Given the description of an element on the screen output the (x, y) to click on. 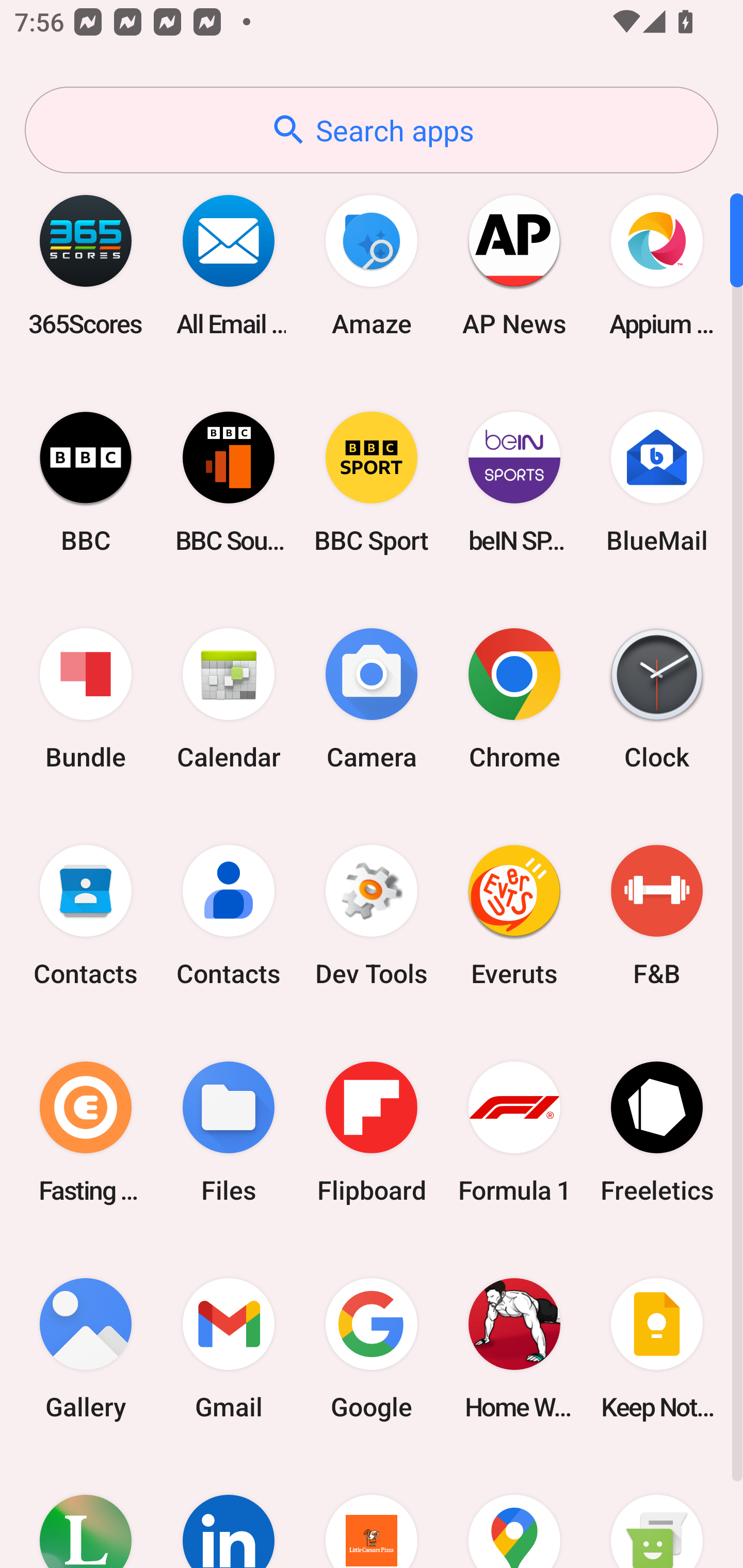
  Search apps (371, 130)
365Scores (85, 264)
All Email Connect (228, 264)
Amaze (371, 264)
AP News (514, 264)
Appium Settings (656, 264)
BBC (85, 482)
BBC Sounds (228, 482)
BBC Sport (371, 482)
beIN SPORTS (514, 482)
BlueMail (656, 482)
Bundle (85, 699)
Calendar (228, 699)
Camera (371, 699)
Chrome (514, 699)
Clock (656, 699)
Contacts (85, 915)
Contacts (228, 915)
Dev Tools (371, 915)
Everuts (514, 915)
F&B (656, 915)
Fasting Coach (85, 1131)
Files (228, 1131)
Flipboard (371, 1131)
Formula 1 (514, 1131)
Freeletics (656, 1131)
Gallery (85, 1348)
Gmail (228, 1348)
Google (371, 1348)
Home Workout (514, 1348)
Keep Notes (656, 1348)
Lifesum (85, 1512)
LinkedIn (228, 1512)
Little Caesars Pizza (371, 1512)
Maps (514, 1512)
Messaging (656, 1512)
